Given the description of an element on the screen output the (x, y) to click on. 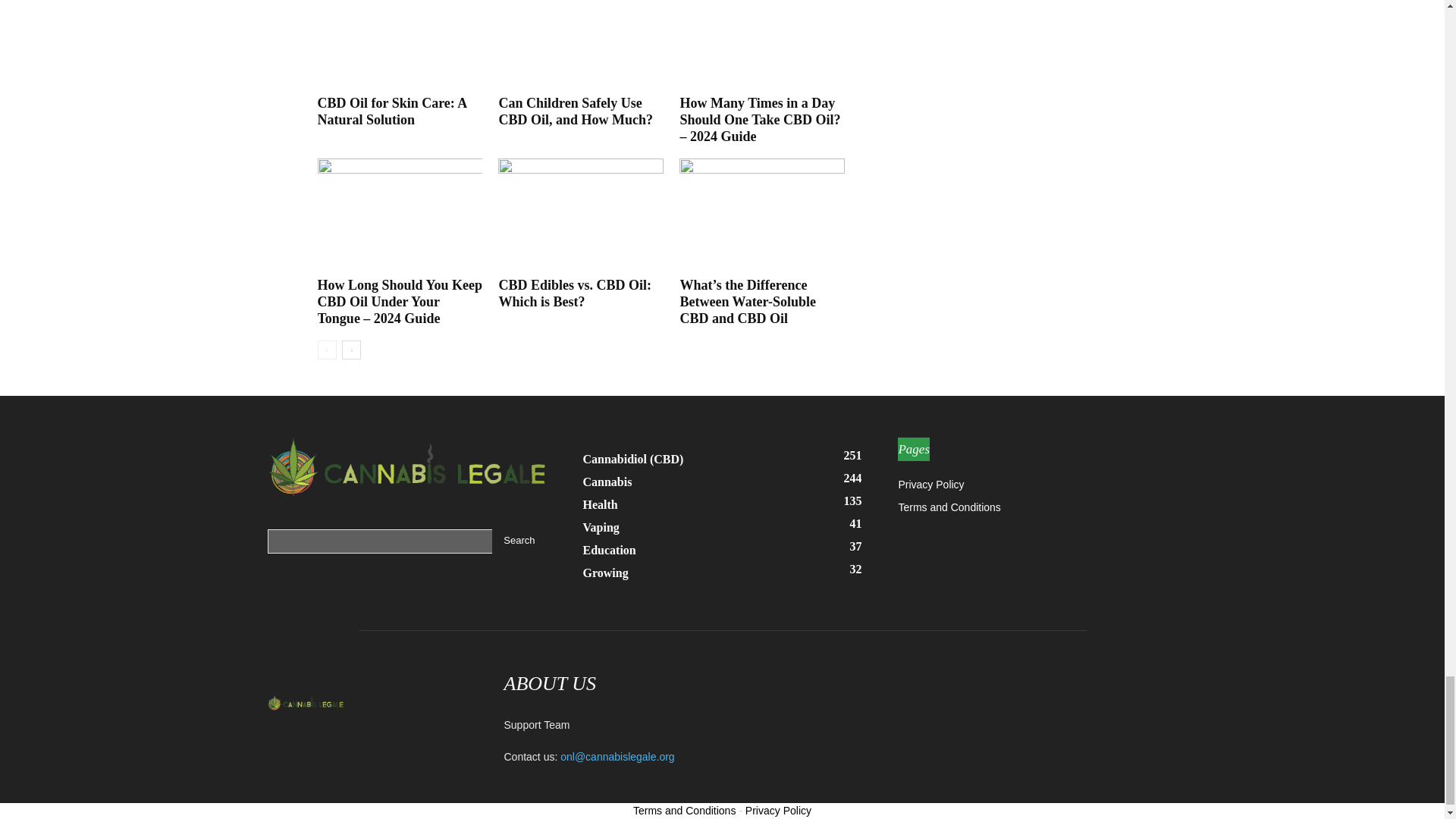
CBD Oil for Skin Care: A Natural Solution (399, 45)
Search (519, 541)
CBD Oil for Skin Care: A Natural Solution (391, 111)
Can Children Safely Use CBD Oil, and How Much? (580, 45)
Can Children Safely Use CBD Oil, and How Much? (574, 111)
